Given the description of an element on the screen output the (x, y) to click on. 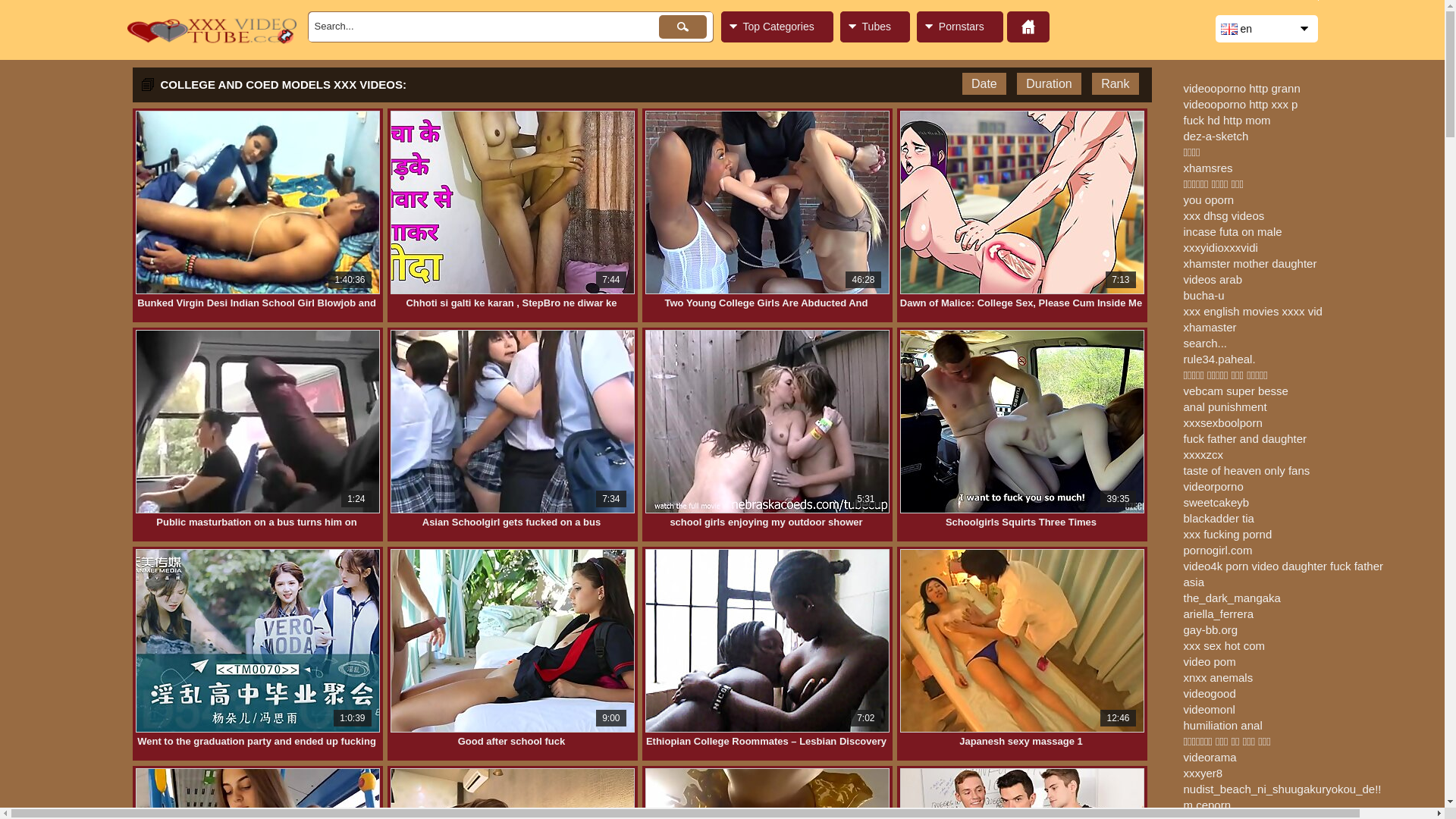
Rank Element type: text (1115, 83)
video4k porn video daughter fuck father Element type: text (1283, 565)
videorama Element type: text (1209, 756)
fuck father and daughter Element type: text (1244, 438)
Pornstars Element type: text (959, 26)
Schoolgirls Squirts Three Times Element type: text (1020, 521)
video pom Element type: text (1209, 661)
sweetcakeyb Element type: text (1215, 501)
fuck hd http mom Element type: text (1226, 119)
Two Young College Girls Are Abducted And Transformed Into S Element type: text (765, 302)
humiliation anal Element type: text (1222, 724)
xxx dhsg videos Element type: text (1223, 215)
xhamsres Element type: text (1207, 167)
m.ceporn Element type: text (1206, 804)
Public masturbation on a bus turns him on Element type: text (255, 521)
Japanesh sexy massage 1 Element type: text (1020, 741)
xnxx anemals Element type: text (1217, 677)
xxxxzcx Element type: text (1203, 454)
xxx fucking pornd Element type: text (1227, 533)
pornogirl.com Element type: text (1217, 549)
Asian Schoolgirl gets fucked on a bus Element type: text (510, 521)
Date Element type: text (984, 83)
xxx sex hot com Element type: text (1223, 645)
videomonl Element type: text (1208, 708)
bucha-u Element type: text (1203, 294)
the_dark_mangaka Element type: text (1231, 597)
Top Categories Element type: text (776, 26)
you oporn Element type: text (1208, 199)
search... Element type: text (1204, 342)
asia Element type: text (1193, 581)
xhamster mother daughter Element type: text (1249, 263)
xxx english movies xxxx vid Element type: text (1252, 310)
dez-a-sketch Element type: text (1215, 135)
anal punishment Element type: text (1224, 406)
videogood Element type: text (1209, 693)
school girls enjoying my outdoor shower Element type: text (765, 521)
Tubes Element type: text (875, 26)
videooporno http grann Element type: text (1241, 87)
vebcam super besse Element type: text (1235, 390)
Tube xxx video Element type: hover (211, 46)
rule34.paheal. Element type: text (1219, 358)
videorporno Element type: text (1212, 486)
taste of heaven only fans Element type: text (1246, 470)
ariella_ferrera Element type: text (1218, 613)
incase futa on male Element type: text (1232, 231)
xxxsexboolporn Element type: text (1222, 422)
videooporno http xxx p Element type: text (1240, 103)
xxxyer8 Element type: text (1202, 772)
nudist_beach_ni_shuugakuryokou_de!! Element type: text (1281, 788)
videos arab Element type: text (1212, 279)
en Element type: text (1265, 28)
blackadder tia Element type: text (1218, 517)
xxxyidioxxxvidi Element type: text (1220, 247)
xhamaster Element type: text (1209, 326)
Duration Element type: text (1048, 83)
gay-bb.org Element type: text (1210, 629)
Good after school fuck Element type: text (510, 741)
